Given the description of an element on the screen output the (x, y) to click on. 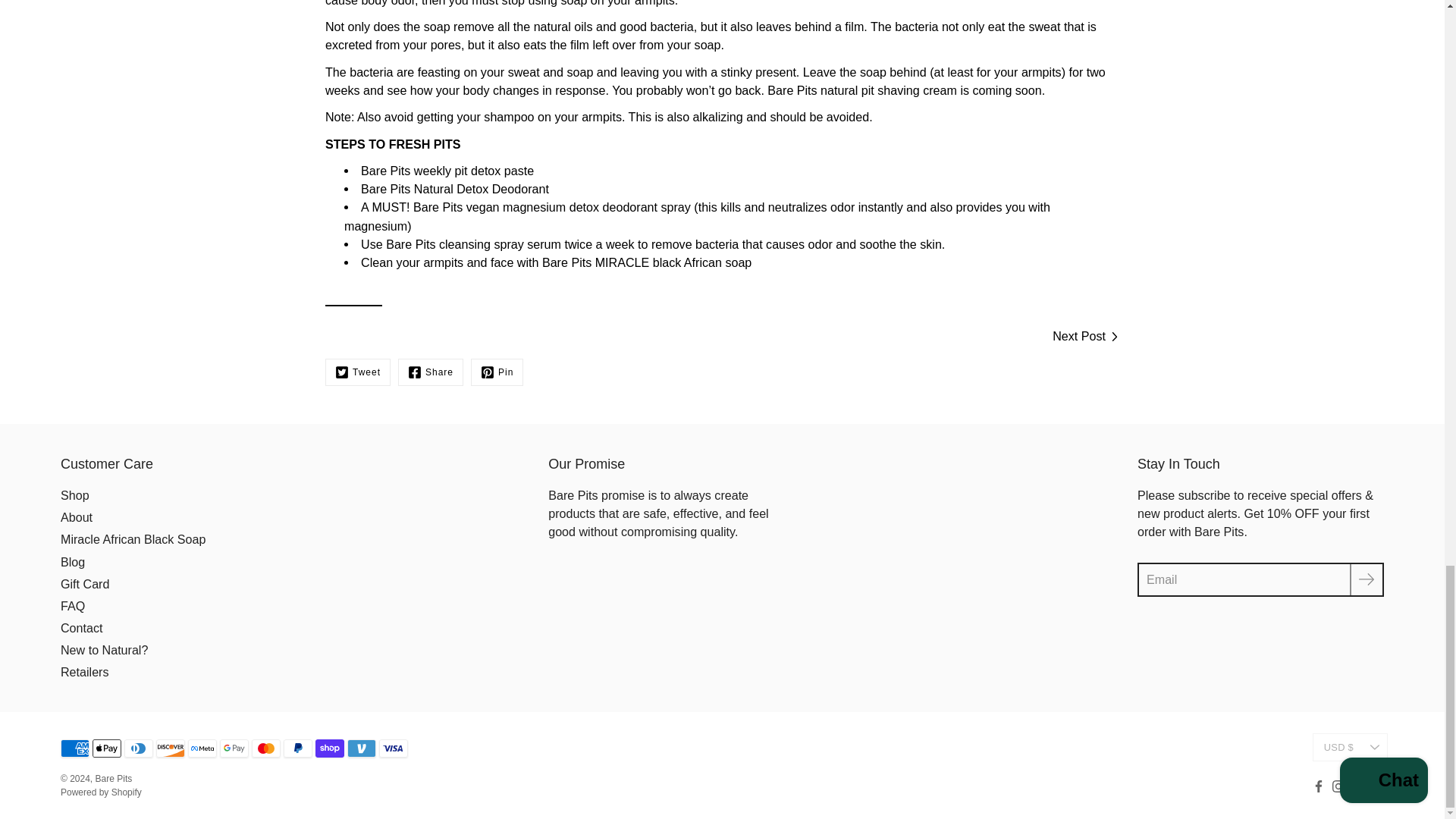
Discover (169, 748)
American Express (74, 748)
Apple Pay (106, 748)
Diners Club (137, 748)
Meta Pay (201, 748)
Pinterest (496, 371)
Google Pay (233, 748)
Twitter (357, 371)
Facebook (430, 371)
